Given the description of an element on the screen output the (x, y) to click on. 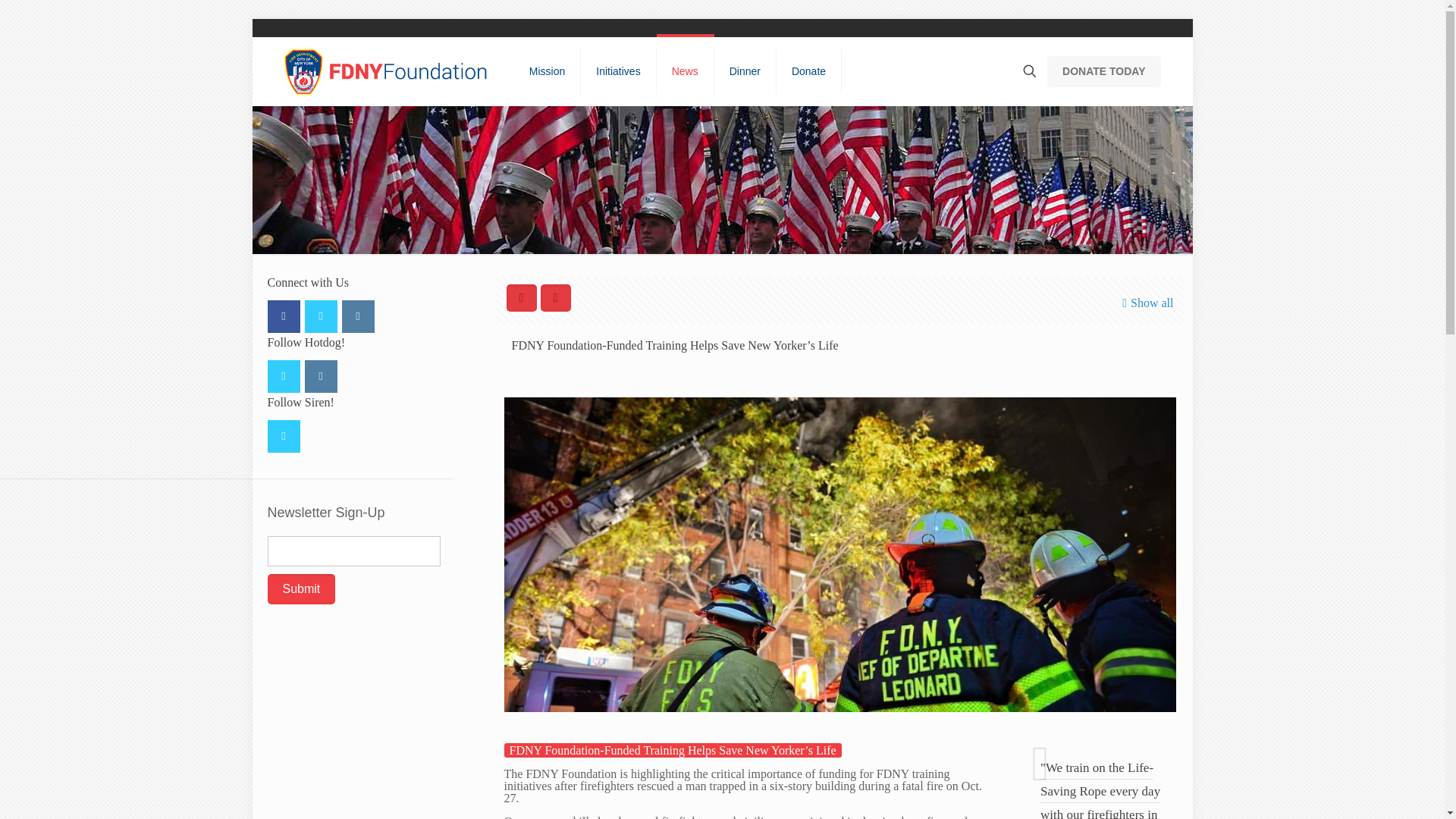
DONATE TODAY (1103, 71)
Show all (1145, 302)
Initiatives (618, 70)
FDNY Foundation (386, 70)
Mission (546, 70)
Dinner (745, 70)
Submit (300, 589)
Donate (808, 70)
